Given the description of an element on the screen output the (x, y) to click on. 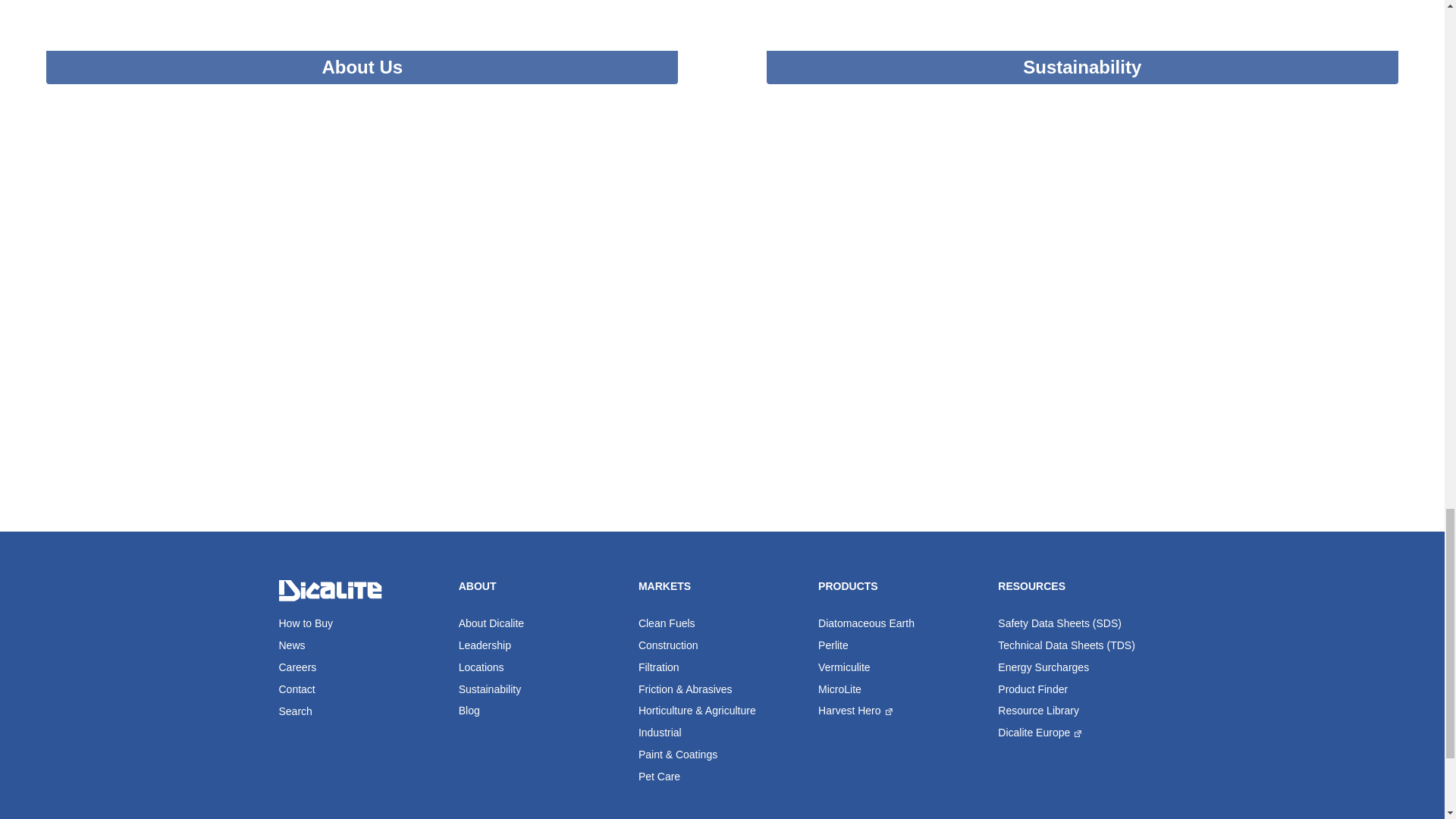
DICALITE MANAGEMENT GROUP (333, 590)
